Given the description of an element on the screen output the (x, y) to click on. 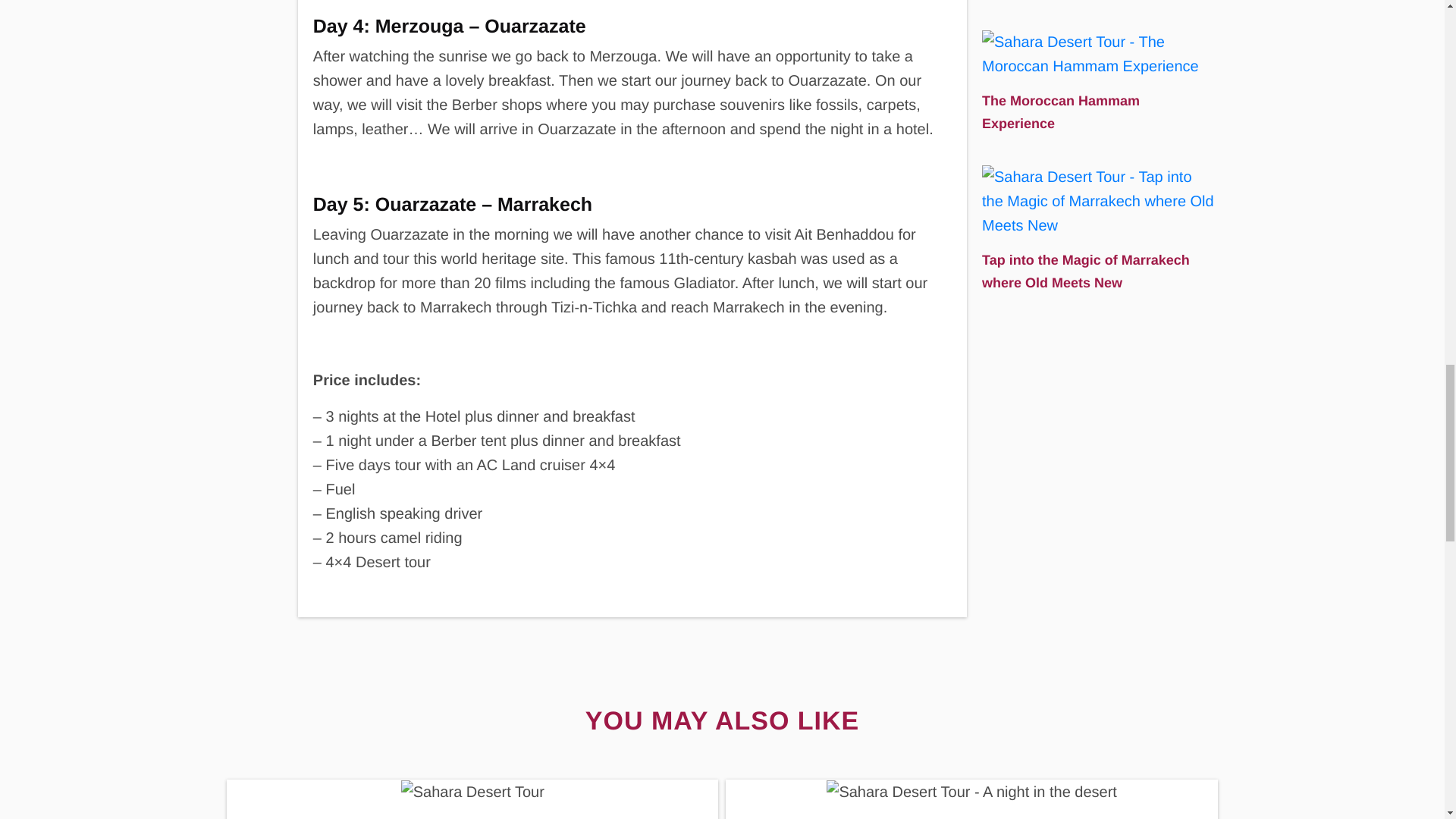
Tap into the Magic of Marrakech where Old Meets New (1098, 229)
The Moroccan Hammam Experience 2 (1098, 54)
The Moroccan Hammam Experience (1098, 82)
Tap into the Magic of Marrakech where Old Meets New 3 (1098, 201)
